Given the description of an element on the screen output the (x, y) to click on. 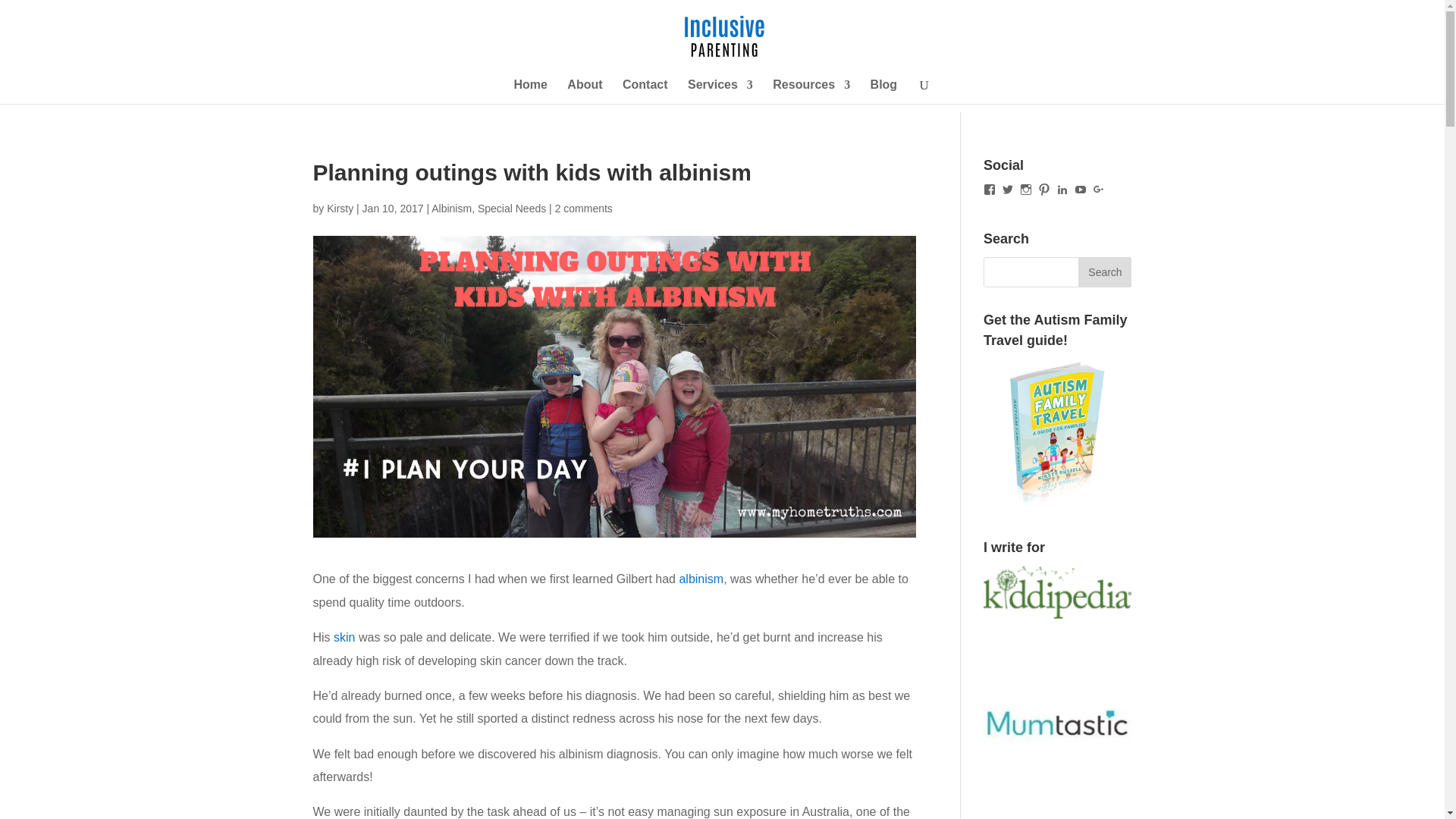
skin (344, 636)
Services (719, 91)
Kirsty (339, 208)
Special Needs (511, 208)
Home (530, 91)
Search (1104, 272)
albinism (700, 578)
Resources (811, 91)
Blog (884, 91)
Facebook (989, 189)
